Given the description of an element on the screen output the (x, y) to click on. 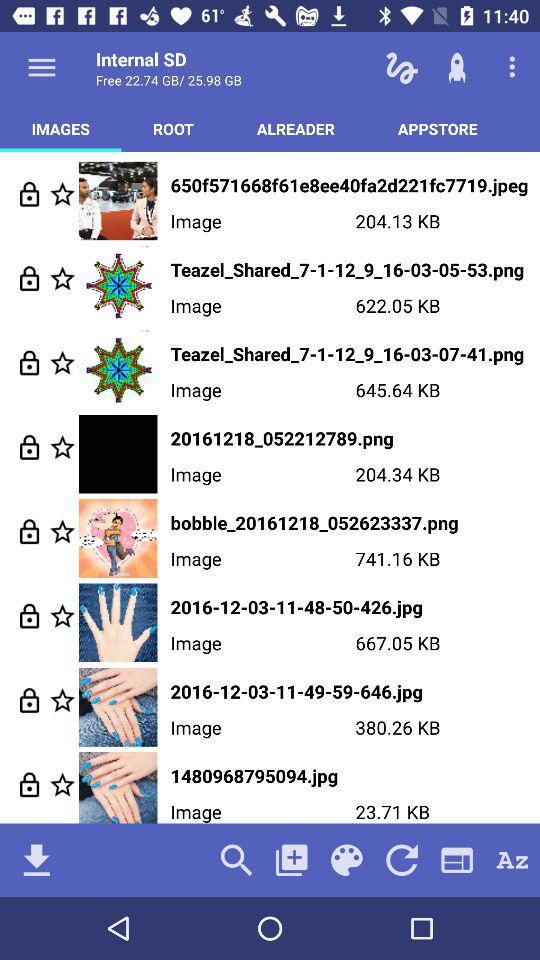
mark as favorite (62, 446)
